Given the description of an element on the screen output the (x, y) to click on. 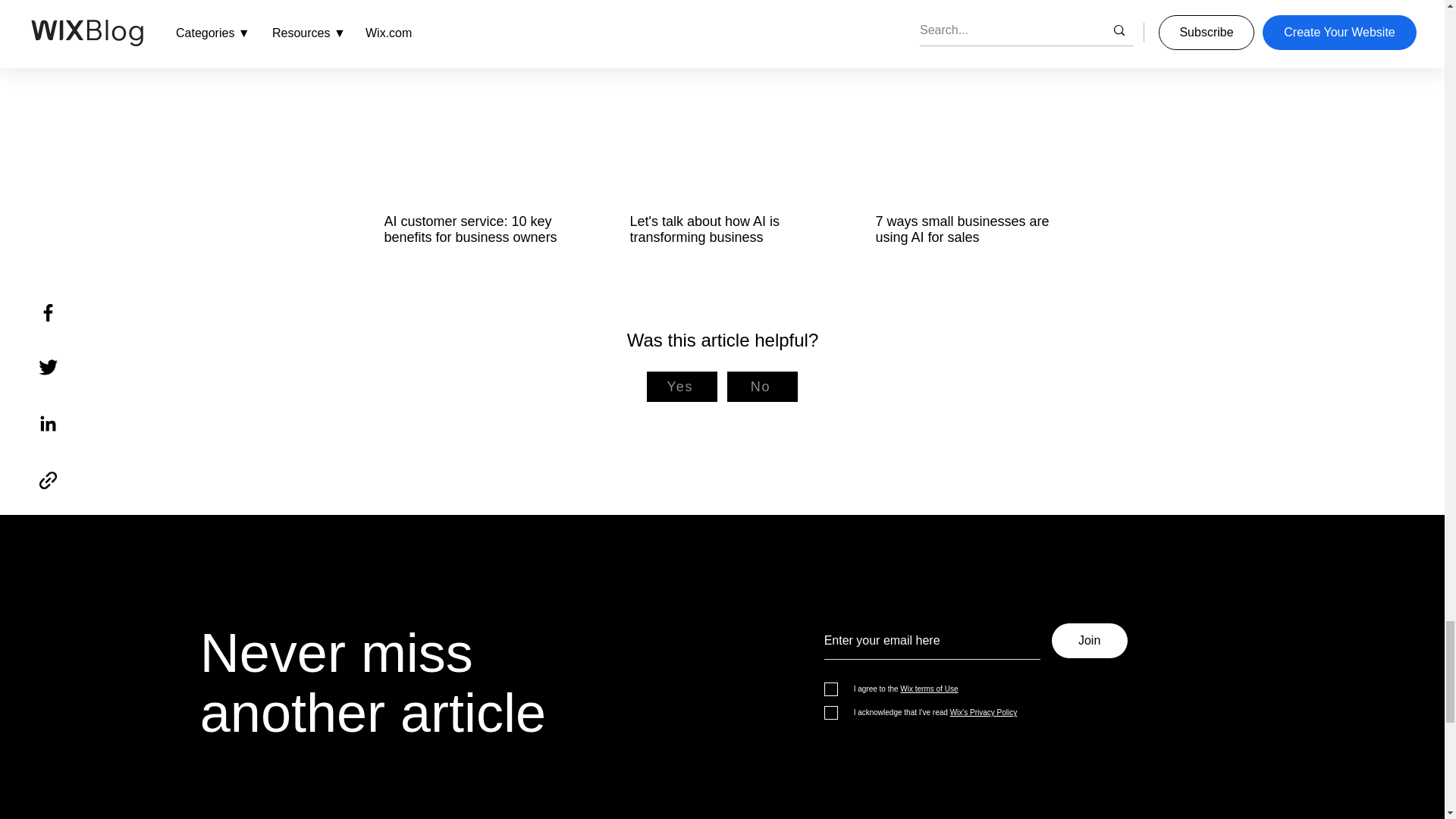
AI customer service: 10 key benefits for business owners (475, 229)
Let's talk about how AI is transforming business (720, 229)
